Given the description of an element on the screen output the (x, y) to click on. 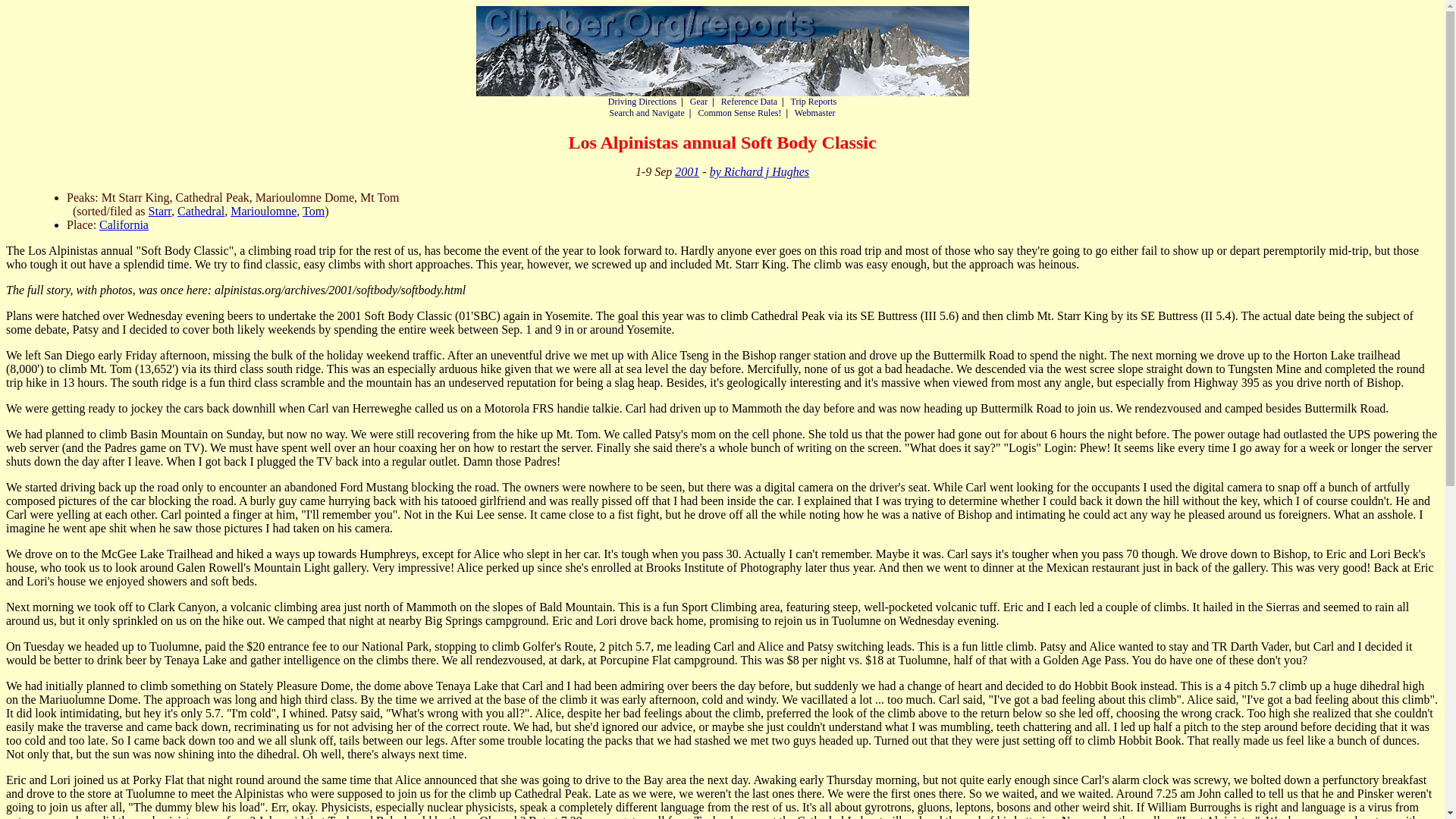
Search and Navigate (646, 112)
Webmaster (814, 112)
by Richard j Hughes (759, 171)
Reference Data (748, 101)
Tom (313, 210)
Gear (698, 101)
Cathedral (200, 210)
California (123, 224)
Starr (159, 210)
Driving Directions (642, 101)
Trip Reports (813, 101)
Common Sense Rules! (738, 112)
Marioulomne (263, 210)
Climber.Org Home Page (722, 50)
2001 (686, 171)
